Given the description of an element on the screen output the (x, y) to click on. 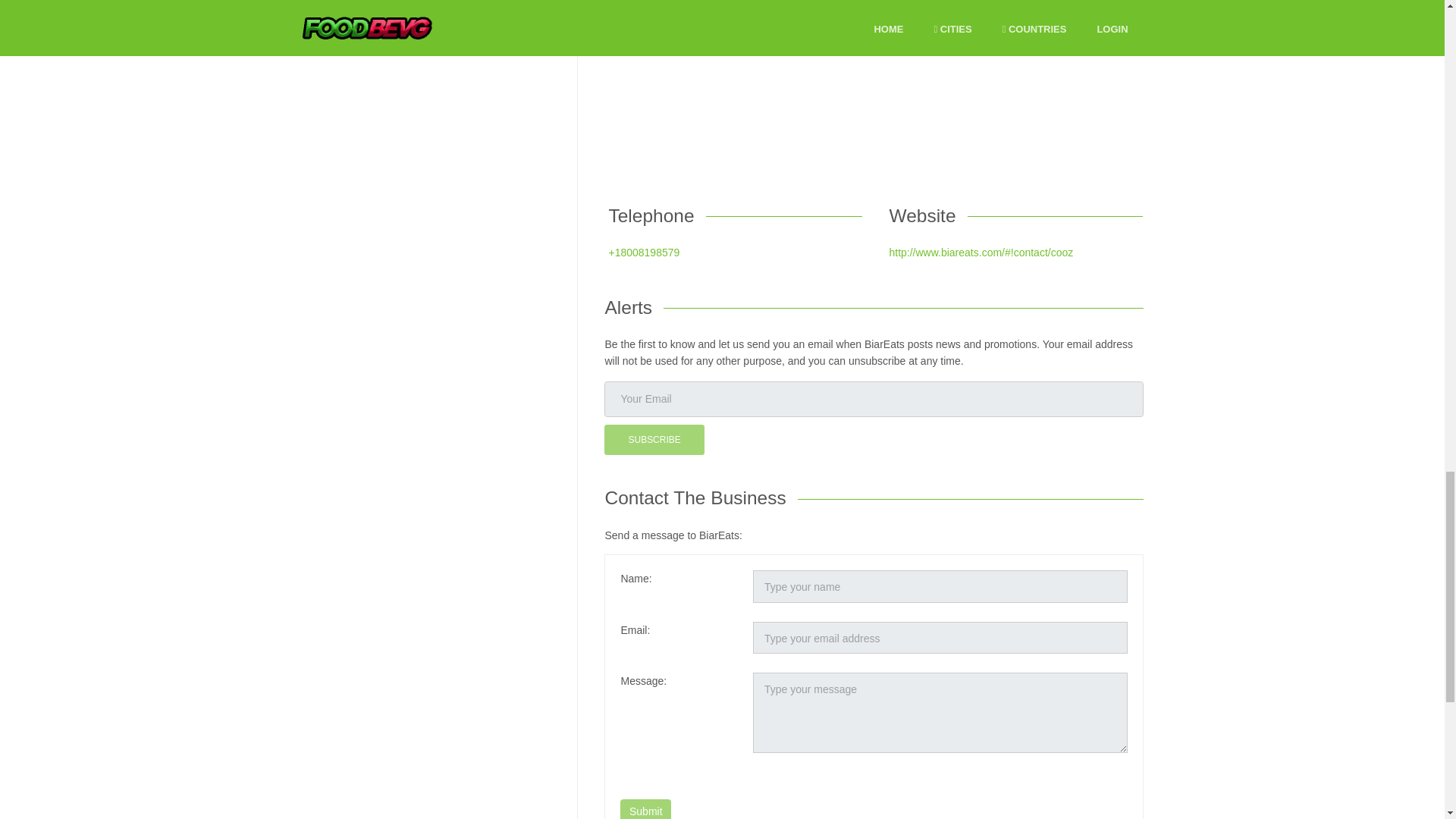
Submit (645, 809)
Submit (645, 809)
SUBSCRIBE (653, 440)
